Given the description of an element on the screen output the (x, y) to click on. 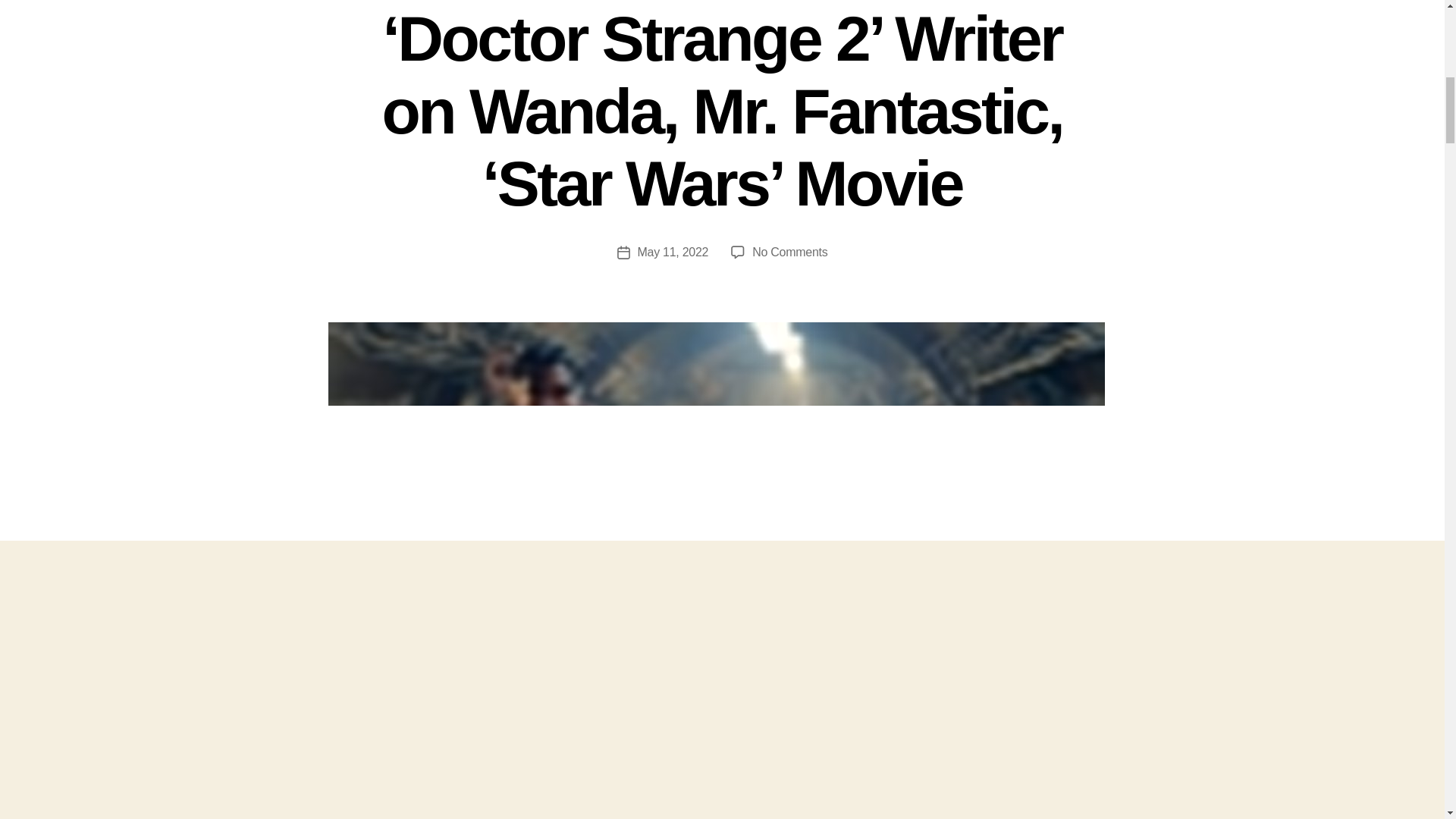
May 11, 2022 (672, 251)
